Given the description of an element on the screen output the (x, y) to click on. 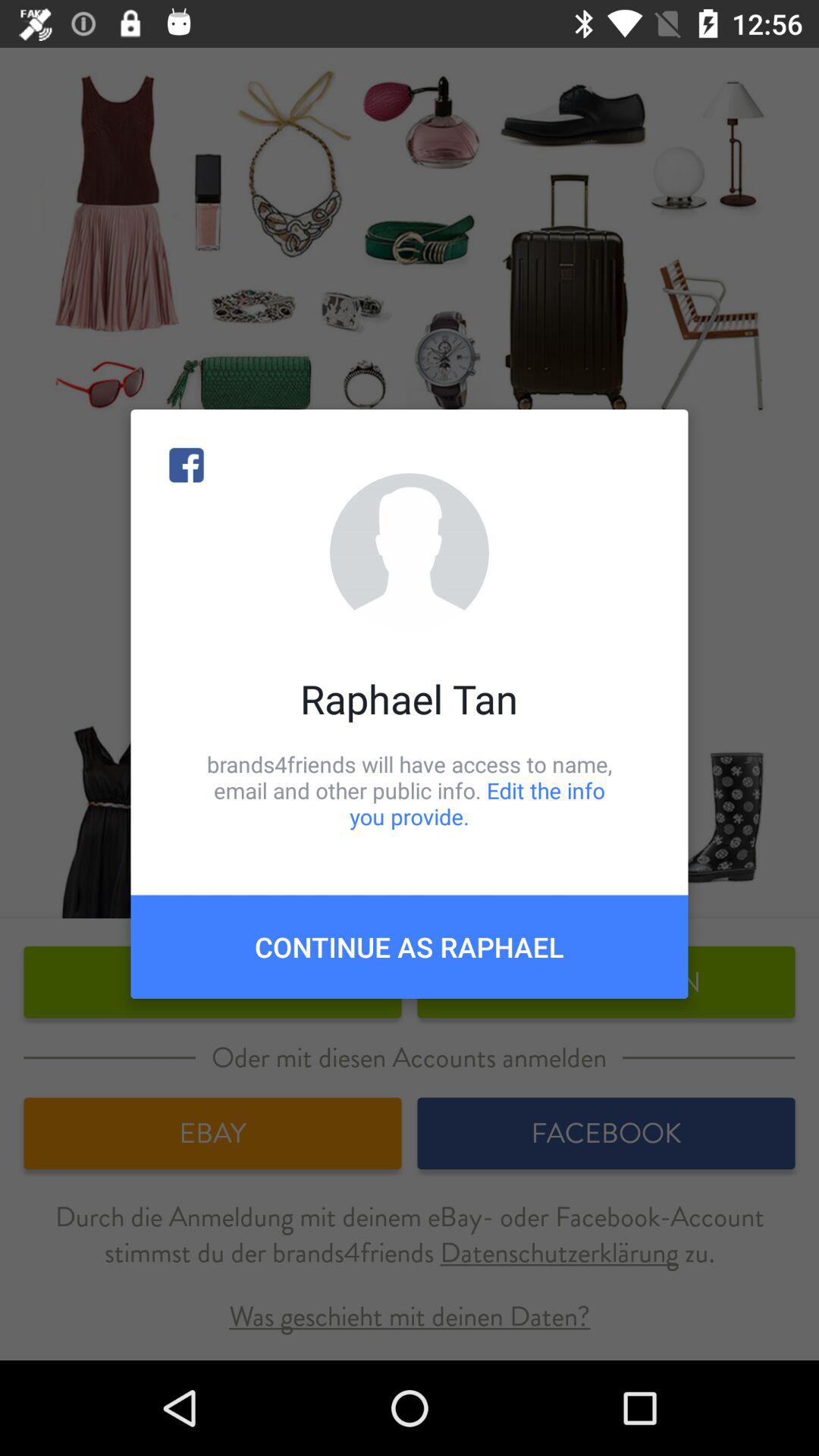
open the continue as raphael item (409, 946)
